Given the description of an element on the screen output the (x, y) to click on. 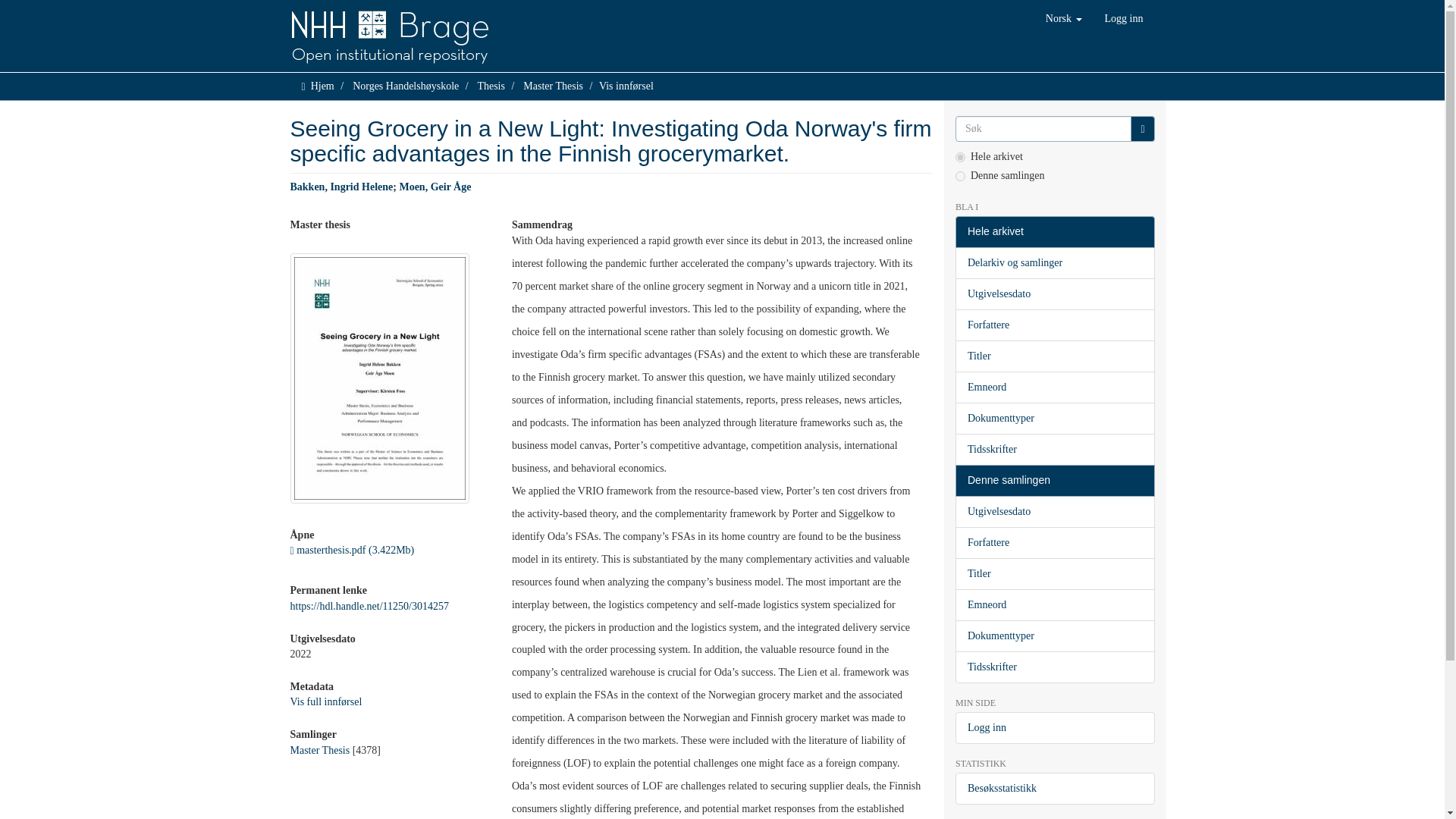
Logg inn (1123, 18)
Delarkiv og samlinger (1054, 263)
Utgivelsesdato (1054, 294)
Norsk  (1063, 18)
Master Thesis (319, 749)
Forfattere (1054, 325)
Bakken, Ingrid Helene (341, 186)
Hele arkivet (1054, 232)
Master Thesis (552, 85)
Hjem (322, 85)
